Given the description of an element on the screen output the (x, y) to click on. 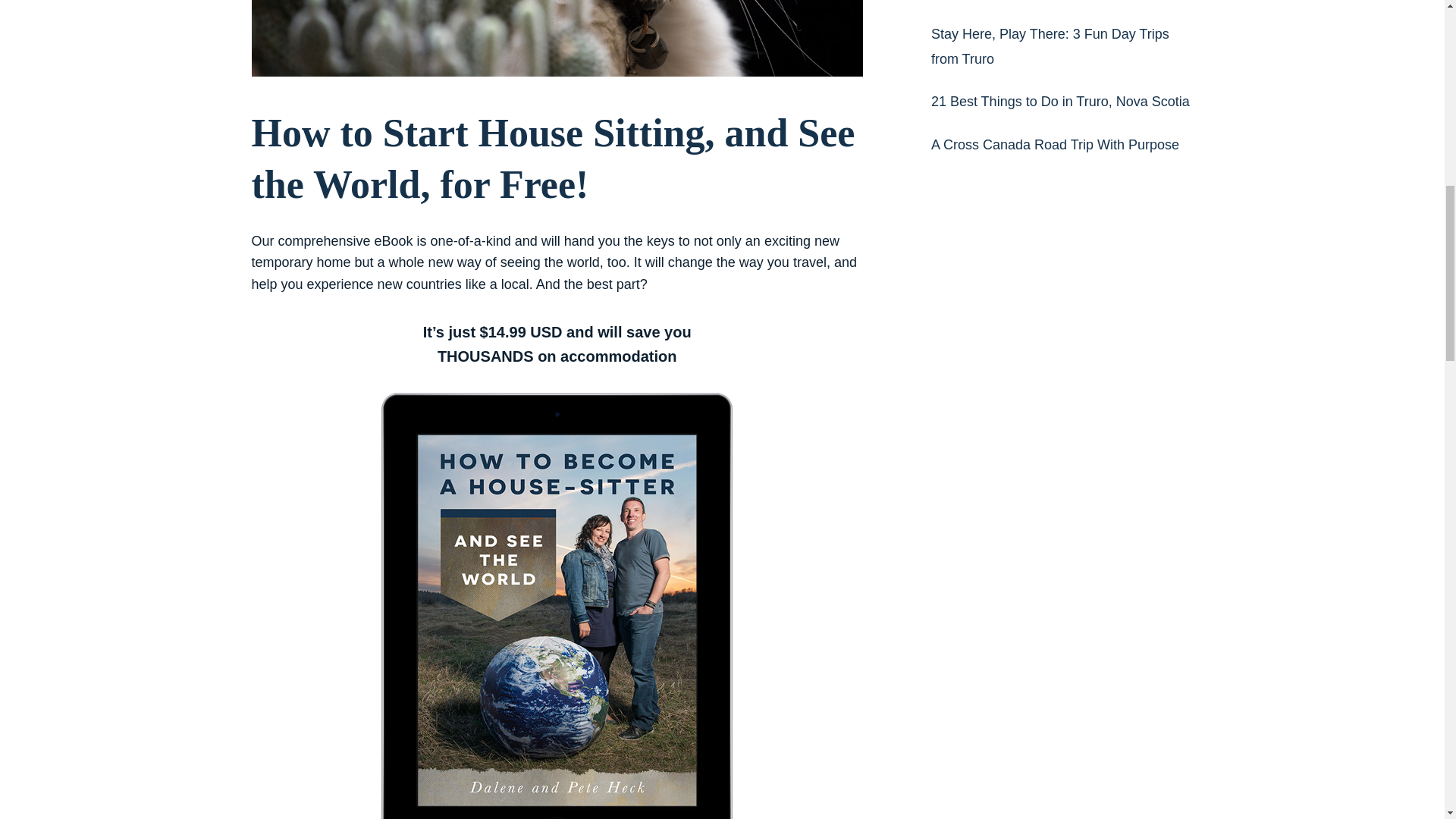
A Cross Canada Road Trip With Purpose (1055, 144)
21 Best Things to Do in Truro, Nova Scotia (1060, 101)
Stay Here, Play There: 3 Fun Day Trips from Truro (1050, 46)
